Given the description of an element on the screen output the (x, y) to click on. 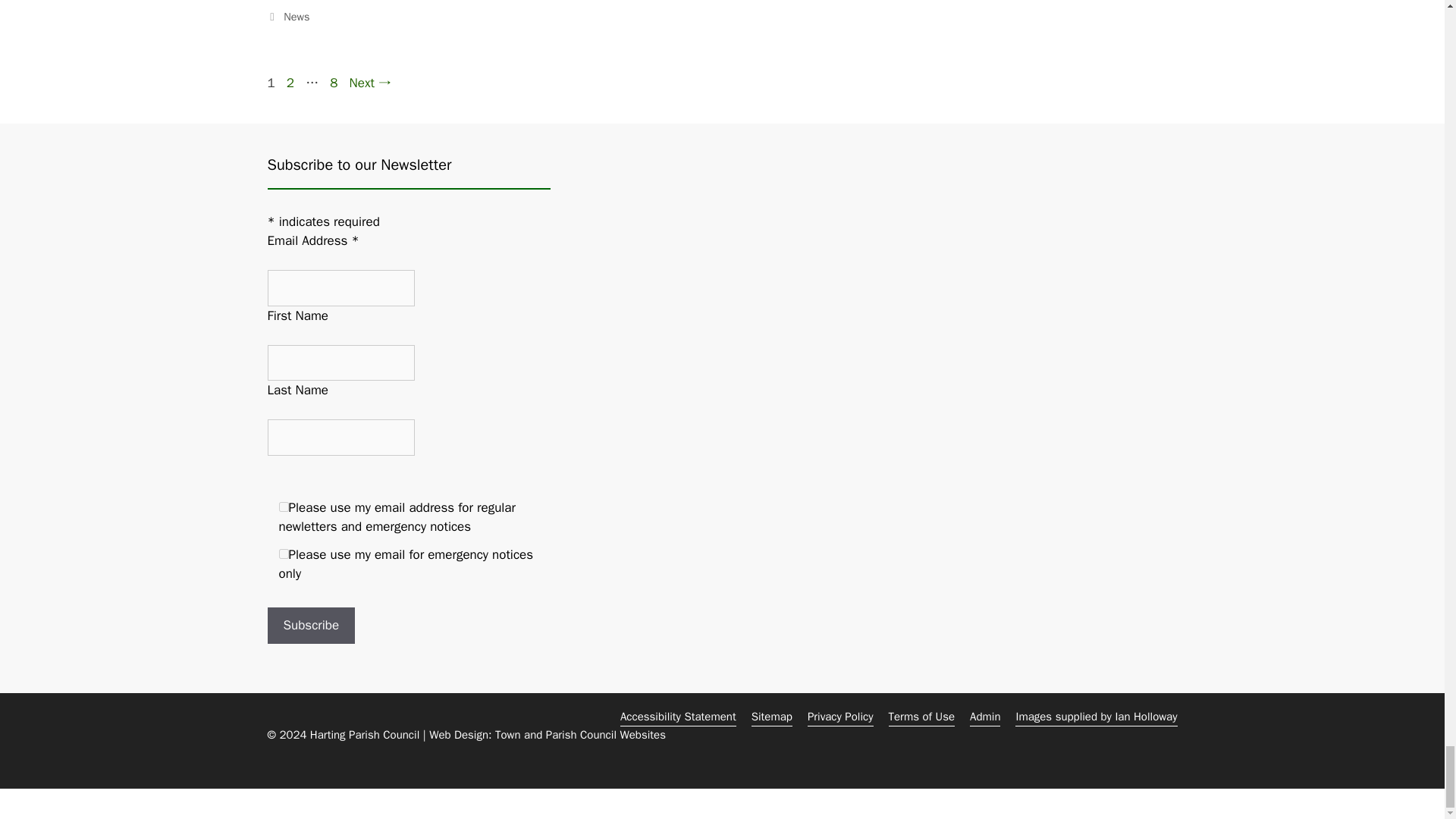
Subscribe (310, 625)
2 (283, 553)
1 (283, 506)
